Given the description of an element on the screen output the (x, y) to click on. 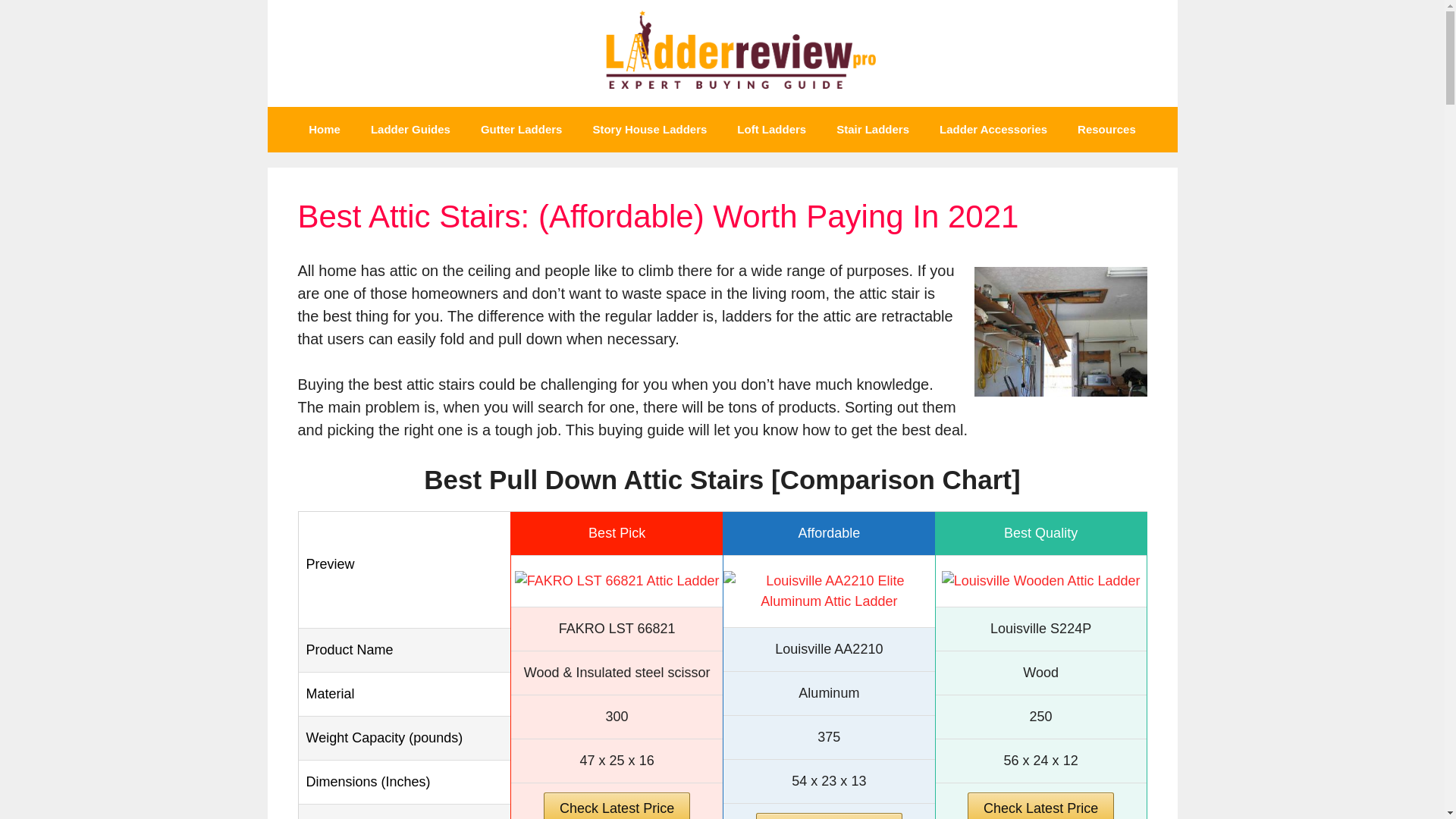
Home (324, 129)
Check Latest Price (1040, 805)
Check Latest Price (616, 805)
Story House Ladders (649, 129)
Ladder Accessories (993, 129)
Stair Ladders (872, 129)
Ladder Guides (410, 129)
Gutter Ladders (521, 129)
Check Latest Price (828, 816)
Loft Ladders (771, 129)
Resources (1106, 129)
